Given the description of an element on the screen output the (x, y) to click on. 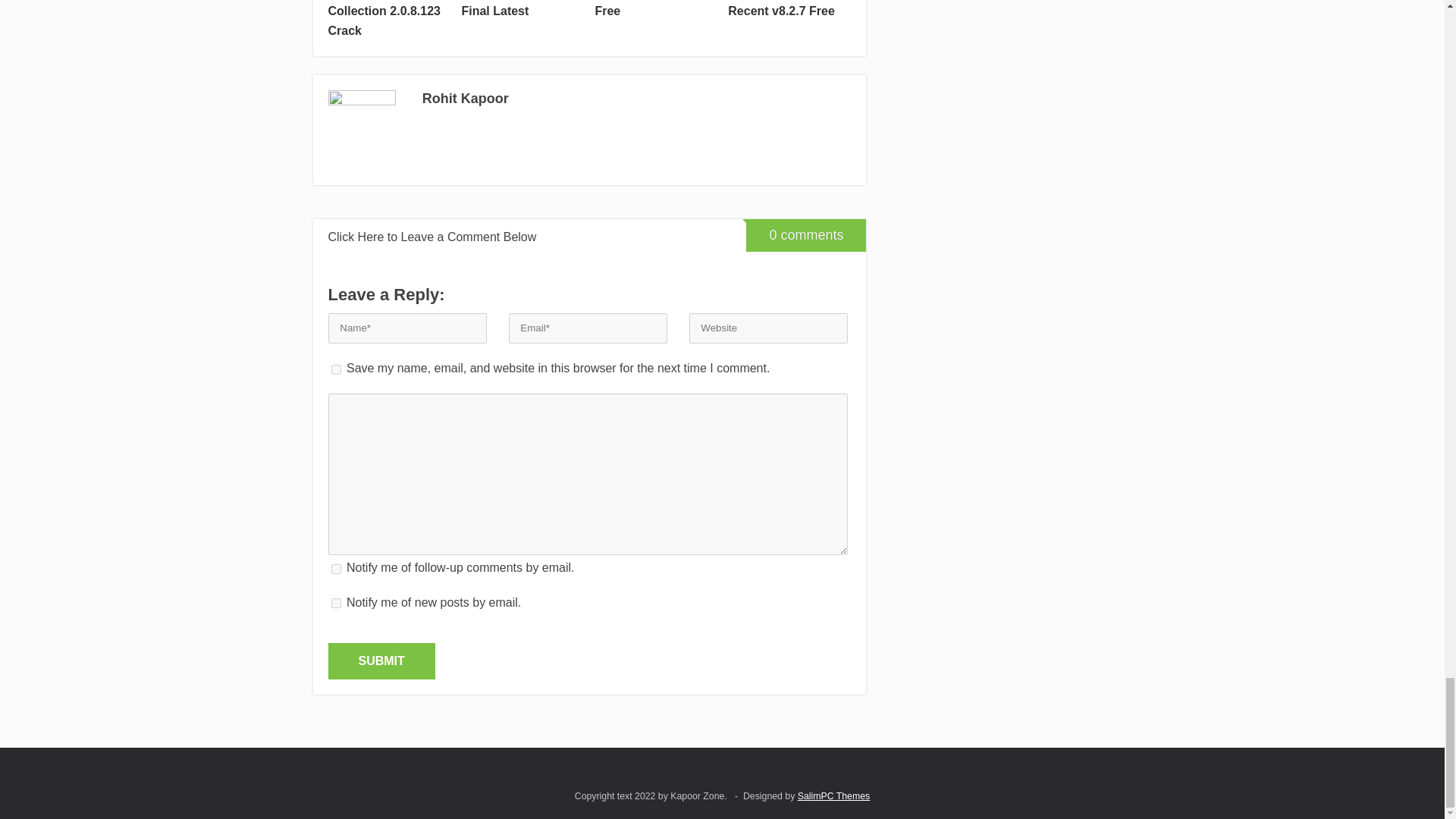
subscribe (335, 569)
Download IObit Unintaller 12.2.0.7 Final Latest (522, 10)
Download Nuclear Coffee My Music Collection 2.0.8.123 Crack (388, 20)
SUBMIT (380, 660)
yes (335, 369)
SUBMIT (380, 660)
subscribe (335, 603)
SalimPC Themes (833, 796)
Download RAM Saver Pro v23.0 Full Free (655, 10)
